Given the description of an element on the screen output the (x, y) to click on. 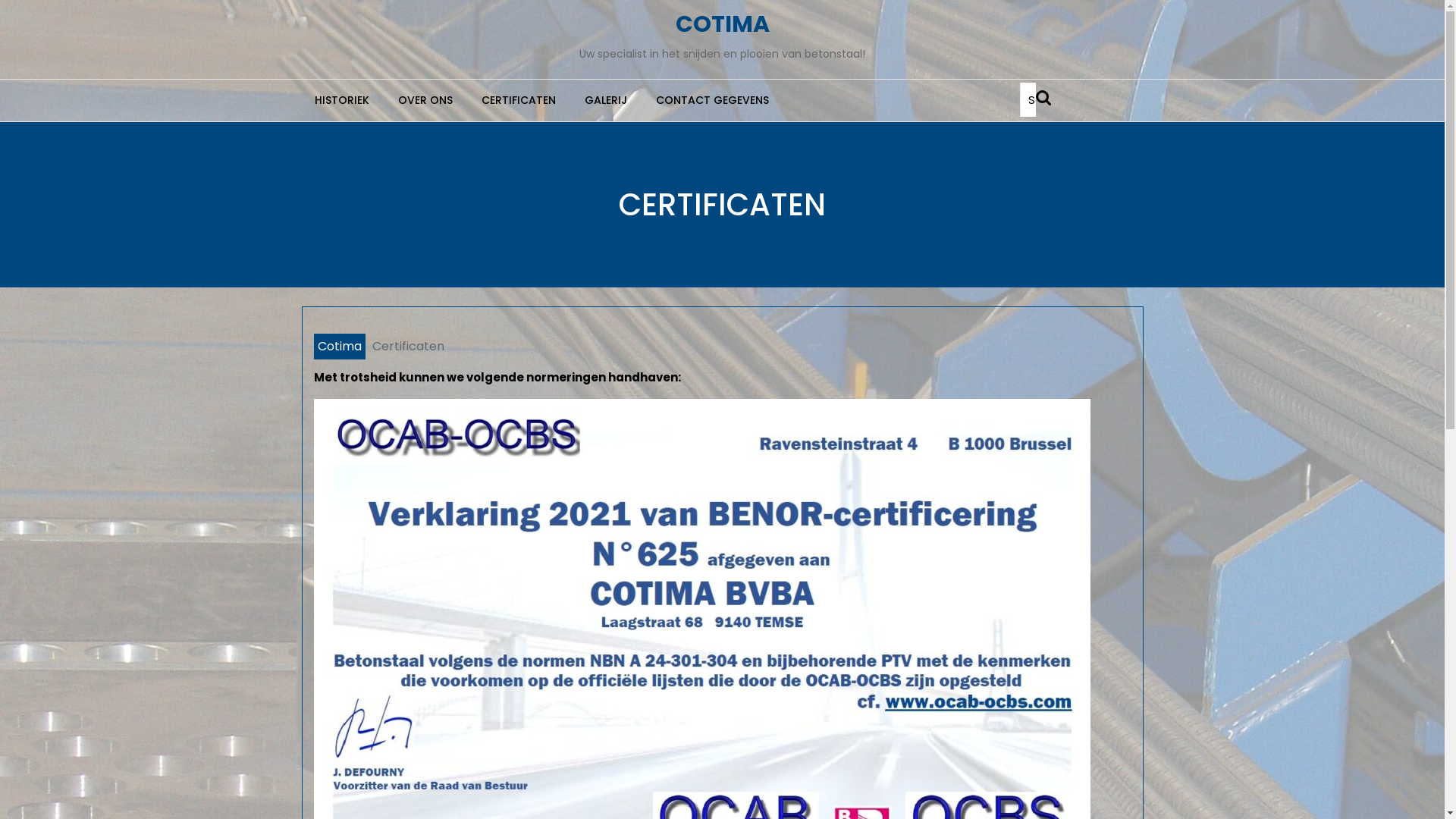
Search Element type: text (1045, 97)
OVER ONS Element type: text (425, 100)
COTIMA Element type: text (721, 24)
CERTIFICATEN Element type: text (518, 100)
CONTACT GEGEVENS Element type: text (712, 100)
Cotima Element type: text (339, 346)
GALERIJ Element type: text (605, 100)
HISTORIEK Element type: text (341, 100)
